Given the description of an element on the screen output the (x, y) to click on. 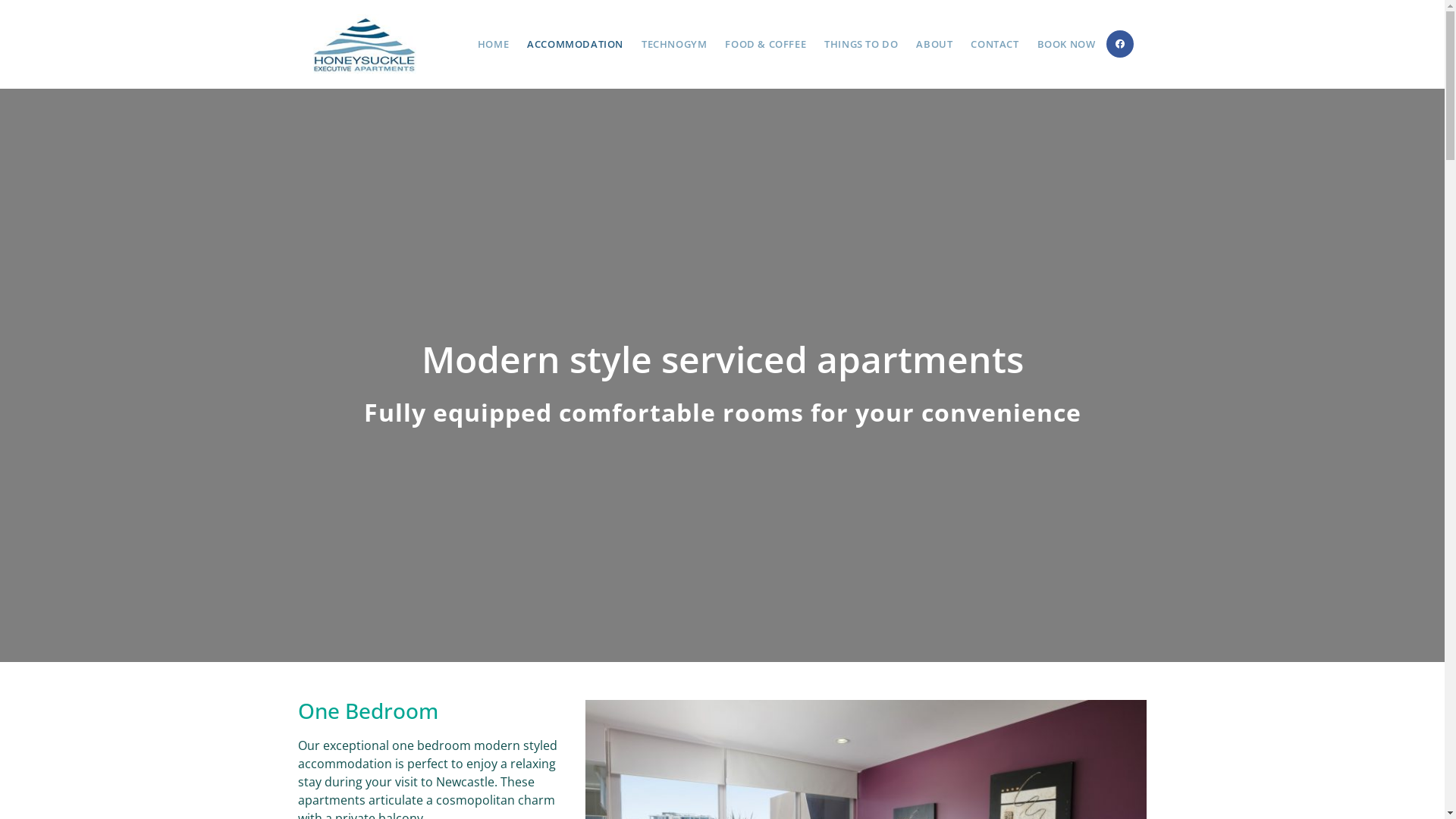
THINGS TO DO Element type: text (860, 43)
BOOK NOW Element type: text (1066, 43)
ACCOMMODATION Element type: text (574, 43)
ABOUT Element type: text (933, 43)
FOOD & COFFEE Element type: text (765, 43)
TECHNOGYM Element type: text (673, 43)
CONTACT Element type: text (994, 43)
HOME Element type: text (492, 43)
